Given the description of an element on the screen output the (x, y) to click on. 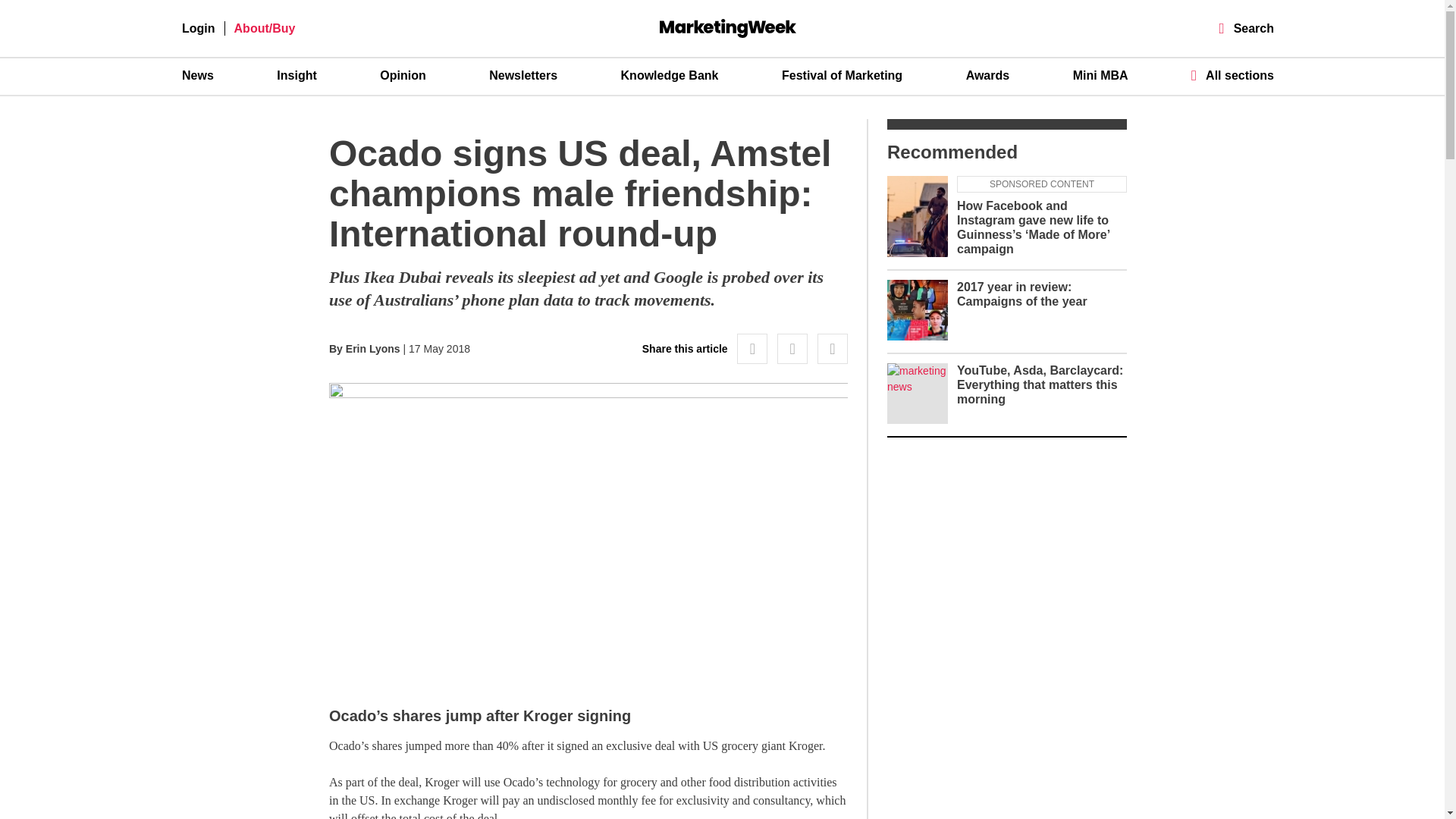
Mini MBA (1100, 75)
Festival of Marketing (841, 75)
Knowledge Bank (670, 75)
All sections (1232, 74)
Opinion (402, 75)
Posts by Erin Lyons (373, 348)
All sections (1232, 74)
Insight (295, 75)
Awards (988, 75)
Search (1247, 28)
2017 year in review: Campaigns of the year (1021, 293)
Login (198, 28)
Newsletters (523, 75)
Erin Lyons (373, 348)
